Given the description of an element on the screen output the (x, y) to click on. 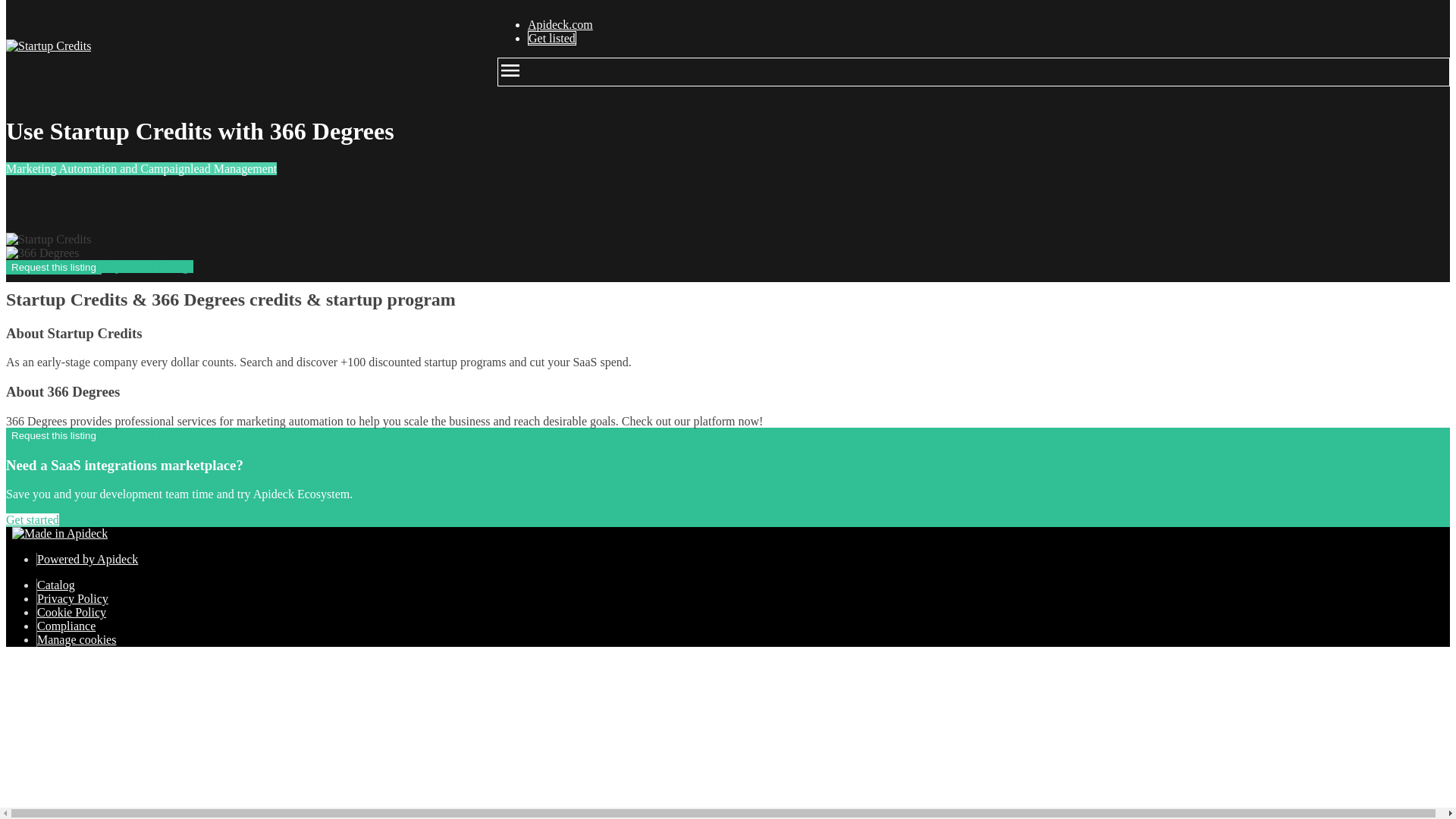
Catalog (56, 584)
Compliance (66, 625)
366 Degrees (41, 253)
Startup Credits (47, 239)
Request this listing (53, 435)
Cookie Policy (71, 612)
Privacy Policy (72, 598)
Explore all listings (147, 434)
Startup Credits (47, 46)
Get listed (551, 38)
Request this listing (53, 267)
Manage cookies (76, 639)
Powered by Apideck (87, 558)
Explore all listings (147, 266)
Get started (32, 519)
